Given the description of an element on the screen output the (x, y) to click on. 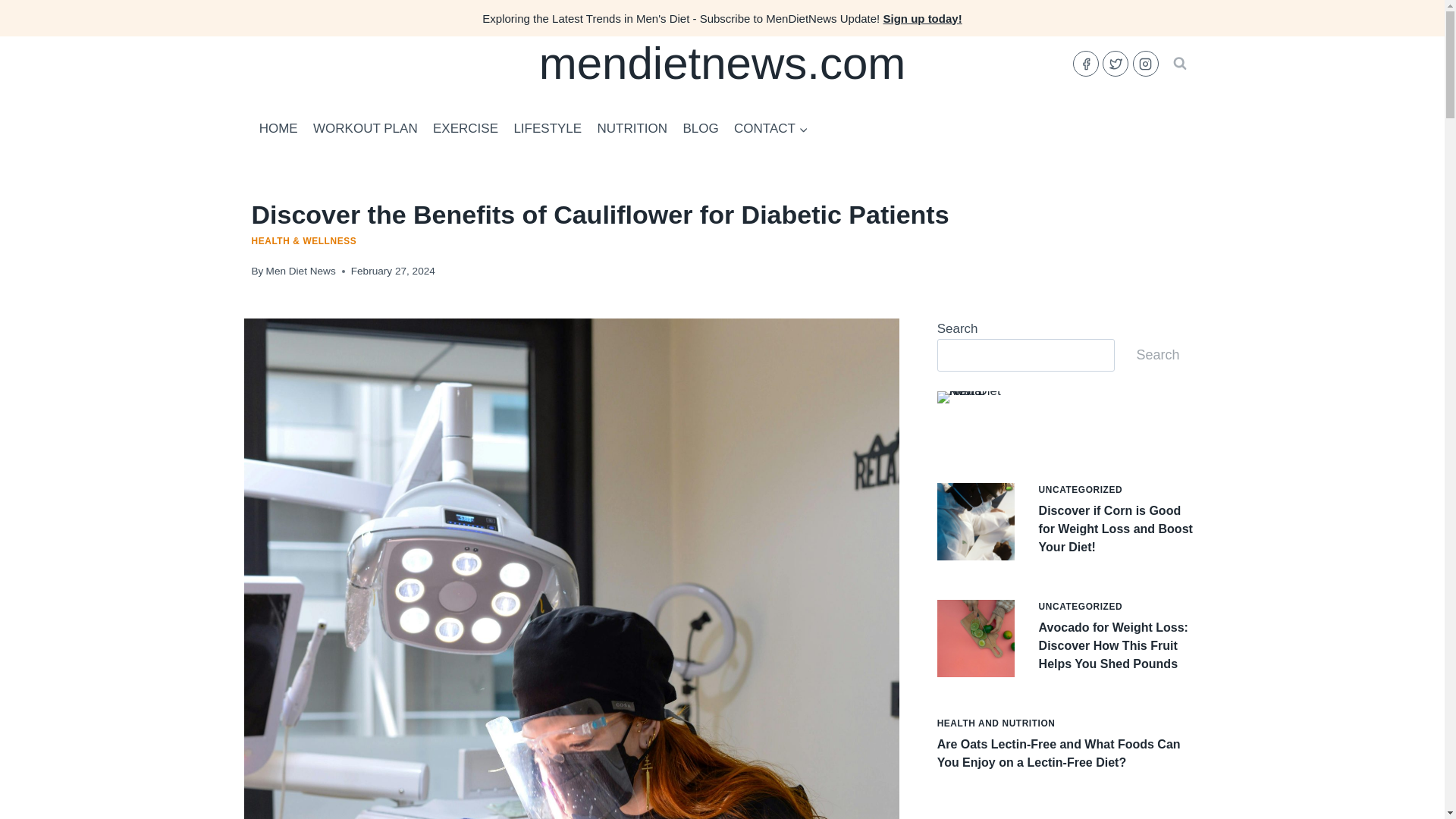
Sign up today! (921, 18)
Sign up today! (921, 18)
EXERCISE (465, 128)
mendietnews.com (721, 63)
HOME (278, 128)
Men Diet News (301, 270)
NUTRITION (632, 128)
LIFESTYLE (547, 128)
CONTACT (770, 128)
WORKOUT PLAN (365, 128)
